Given the description of an element on the screen output the (x, y) to click on. 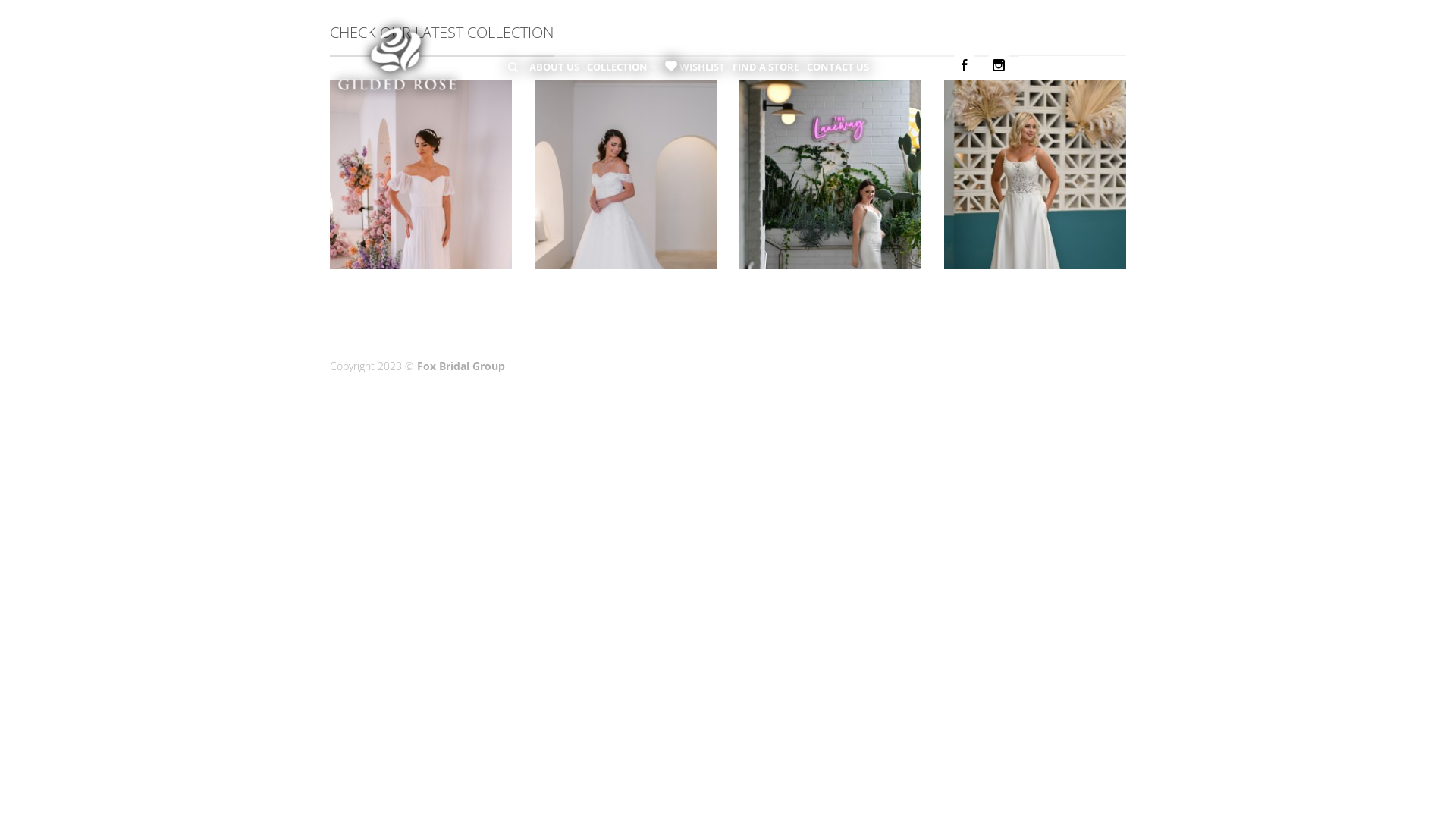
WISHLIST Element type: text (701, 66)
Gilded Rose Bride - Just another Fox Bridal Network site Element type: hover (409, 53)
BACK TO FOX BRIDAL Element type: text (1072, 67)
Follow us on Facebook Element type: hover (964, 65)
CONTACT US Element type: text (837, 66)
FIND A STORE Element type: text (765, 66)
Follow us on Instagram Element type: hover (998, 65)
COLLECTION Element type: text (621, 66)
ABOUT US Element type: text (554, 66)
